Given the description of an element on the screen output the (x, y) to click on. 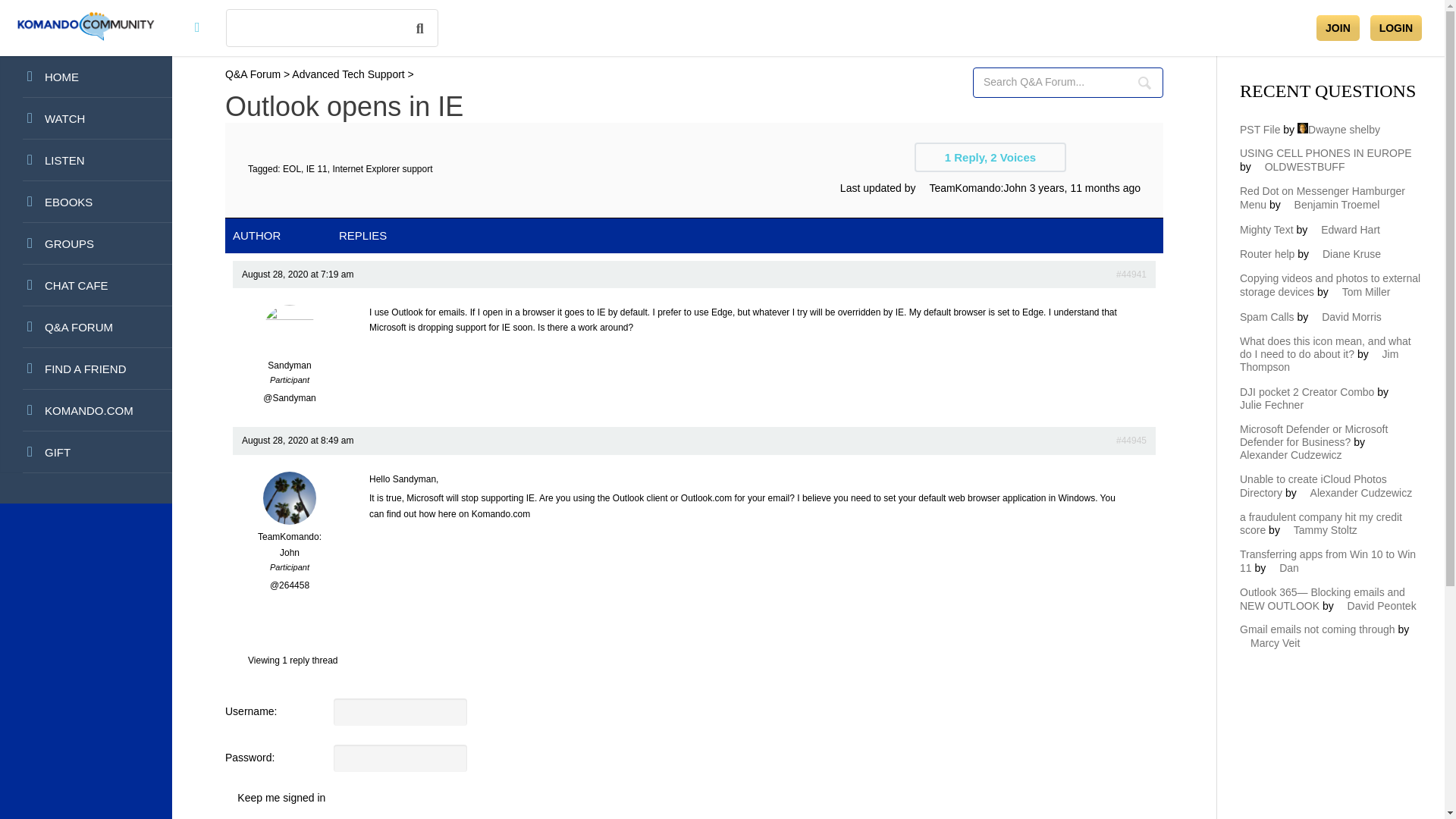
Reply To: Outlook opens in IE (1131, 440)
CHAT CAFE (85, 285)
LOGIN (1396, 27)
Search (1143, 82)
View Sandyman's profile (289, 341)
View Diane Kruse's profile (1345, 254)
GROUPS (85, 243)
JOIN (1337, 27)
Reply To: Outlook opens in IE (1084, 187)
Outlook opens in IE (1131, 273)
View Dwayne shelby's profile (1338, 129)
View TeamKomando:John's profile (972, 187)
View OLDWESTBUFF's profile (1299, 166)
View TeamKomando:John's profile (289, 536)
HOME (85, 76)
